Given the description of an element on the screen output the (x, y) to click on. 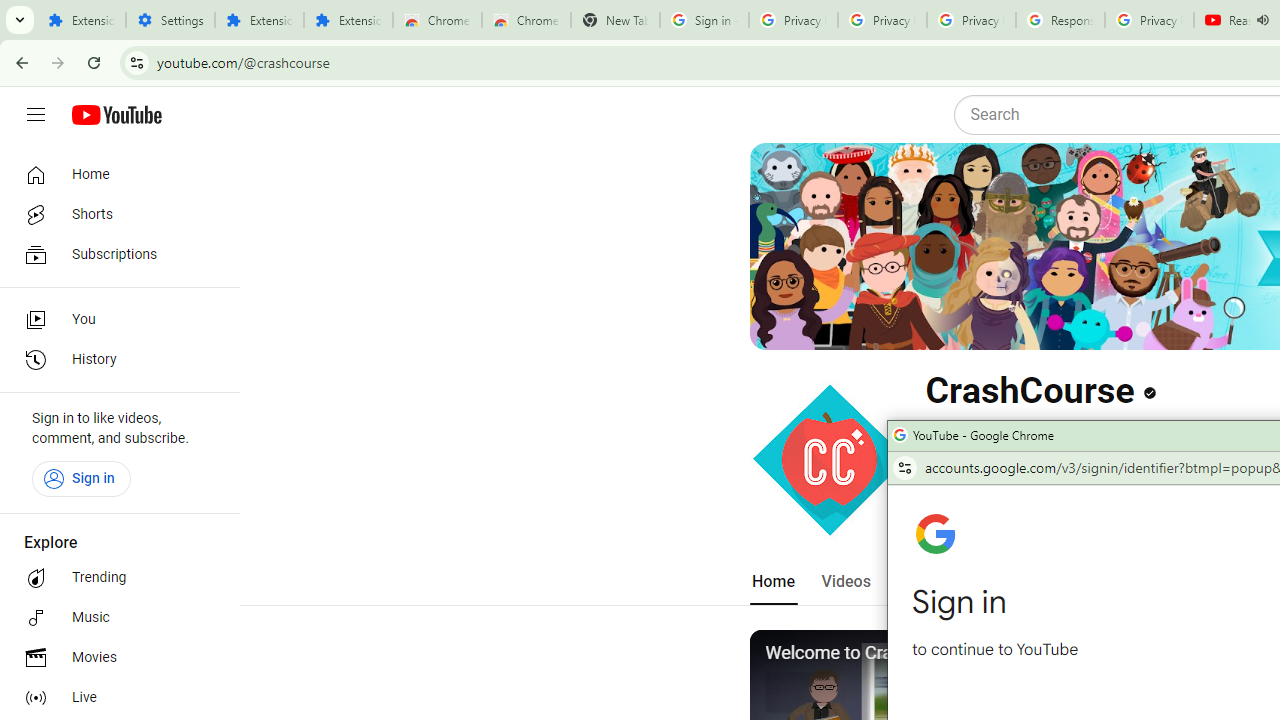
History (113, 359)
Extensions (259, 20)
Subscriptions (113, 254)
Guide (35, 115)
Sign in - Google Accounts (704, 20)
Videos (845, 581)
Shorts (113, 214)
Movies (113, 657)
